Given the description of an element on the screen output the (x, y) to click on. 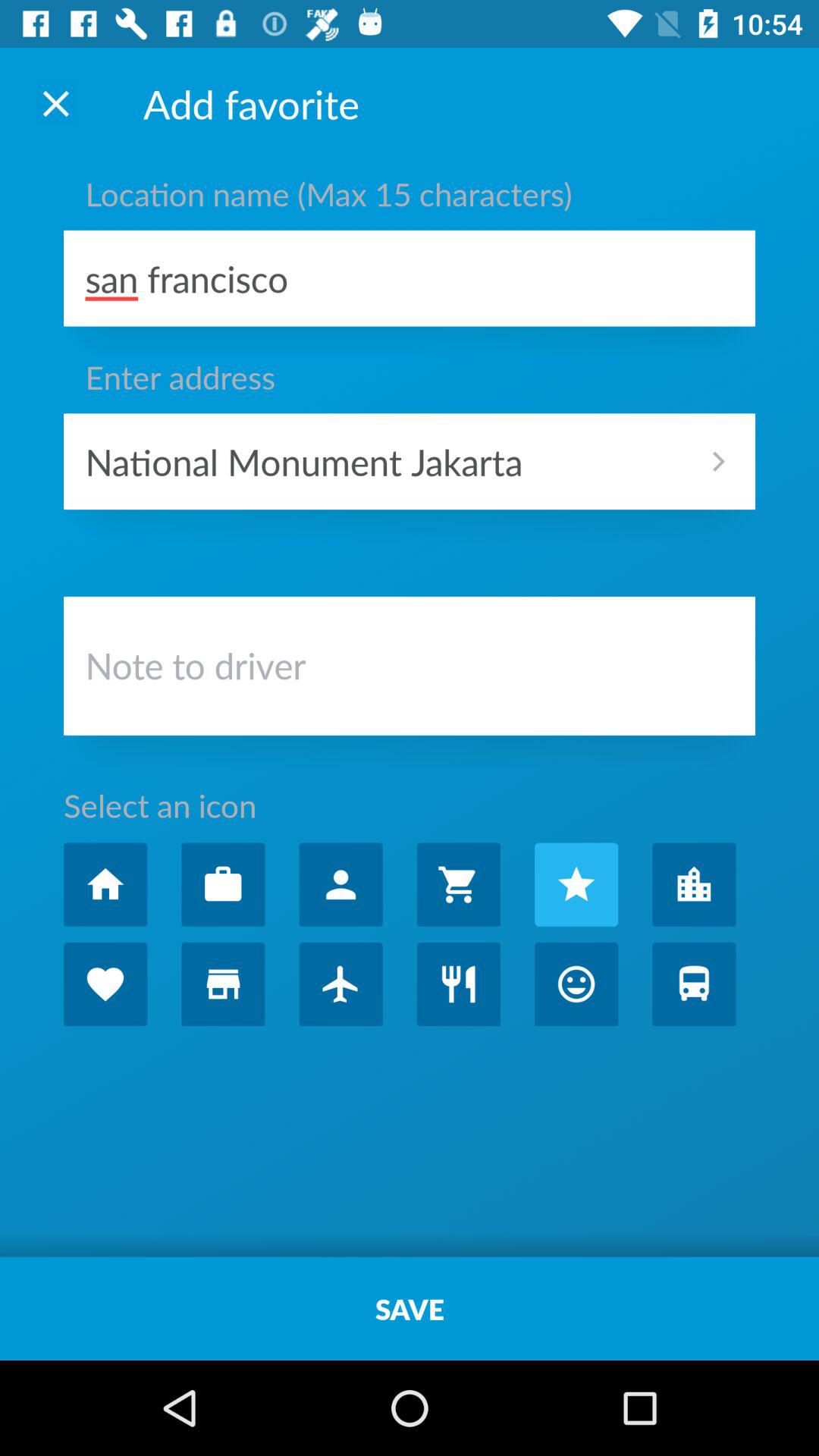
entra no icone (693, 884)
